Given the description of an element on the screen output the (x, y) to click on. 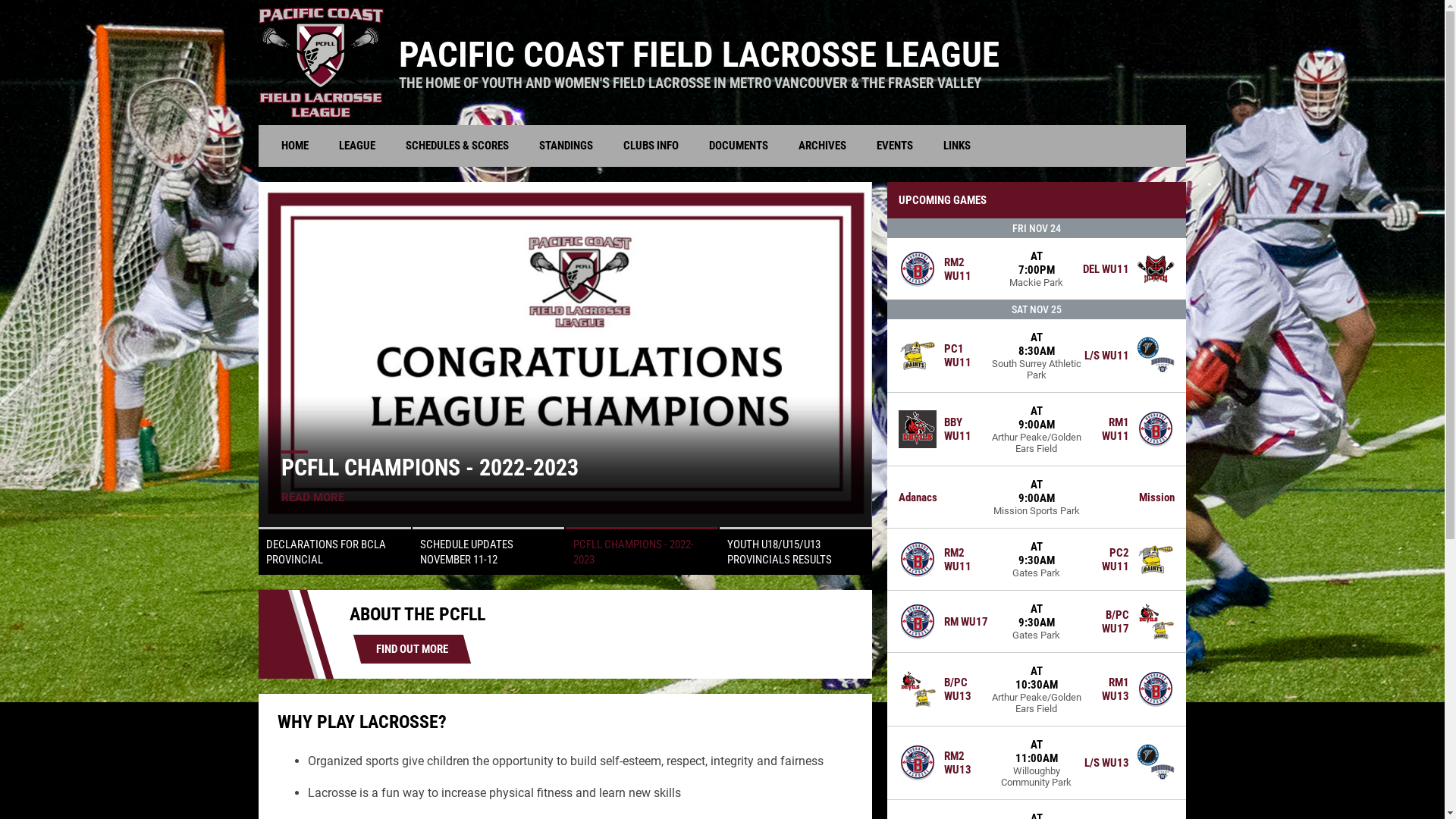
RM2 WU11
AT
9:30AM
Gates Park
PC2 WU11 Element type: text (1036, 558)
DOCUMENTS Element type: text (738, 145)
PC1 WU11
AT
8:30AM
South Surrey Athletic Park
L/S WU11 Element type: text (1036, 355)
ABOUT THE PCFLL
FIND OUT MORE Element type: text (565, 633)
BBY WU11
AT
9:00AM
Arthur Peake/Golden Ears Field
RM1 WU11 Element type: text (1036, 428)
HOME Element type: text (294, 145)
RM2 WU13
AT
11:00AM
Willoughby Community Park
L/S WU13 Element type: text (1036, 762)
RM WU17
AT
9:30AM
Gates Park
B/PC WU17 Element type: text (1036, 620)
LINKS Element type: text (956, 145)
ARCHIVES Element type: text (822, 145)
RM2 WU11
AT
7:00PM
Mackie Park
DEL WU11 Element type: text (1036, 268)
Adanacs
AT
9:00AM
Mission Sports Park
Mission Element type: text (1036, 496)
FIND OUT MORE Element type: text (411, 648)
B/PC WU13
AT
10:30AM
Arthur Peake/Golden Ears Field
RM1 WU13 Element type: text (1036, 688)
PCFLL CHAMPIONS - 2022-2023
READ MORE Element type: text (565, 354)
